Given the description of an element on the screen output the (x, y) to click on. 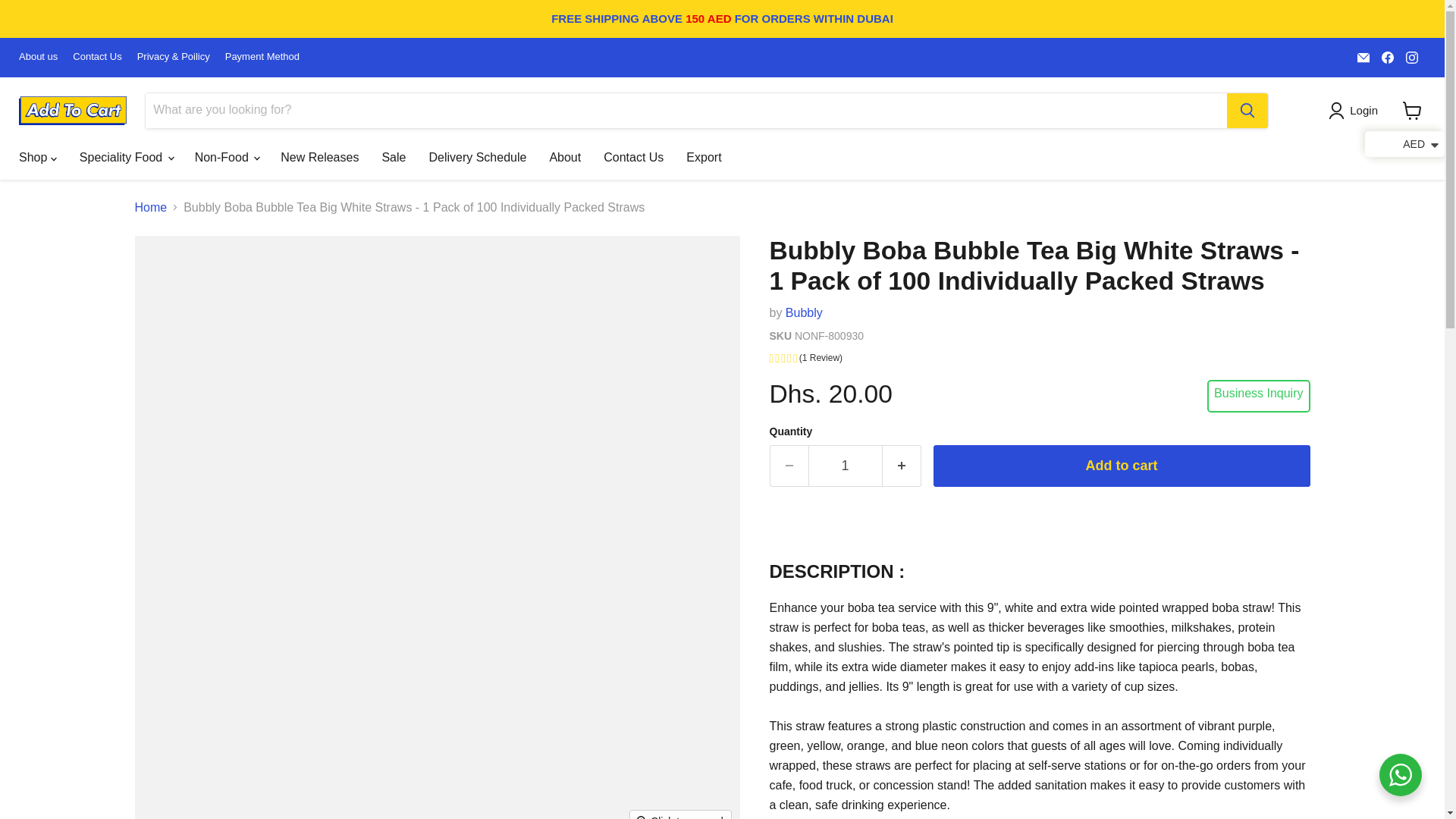
5 Star - 1 Review (1038, 358)
Bubbly (804, 312)
Find us on Instagram (1411, 56)
Payment Method (262, 57)
About us (38, 57)
Instagram (1411, 56)
1 (845, 465)
Login (1355, 110)
View cart (1411, 110)
Facebook (1387, 56)
